Given the description of an element on the screen output the (x, y) to click on. 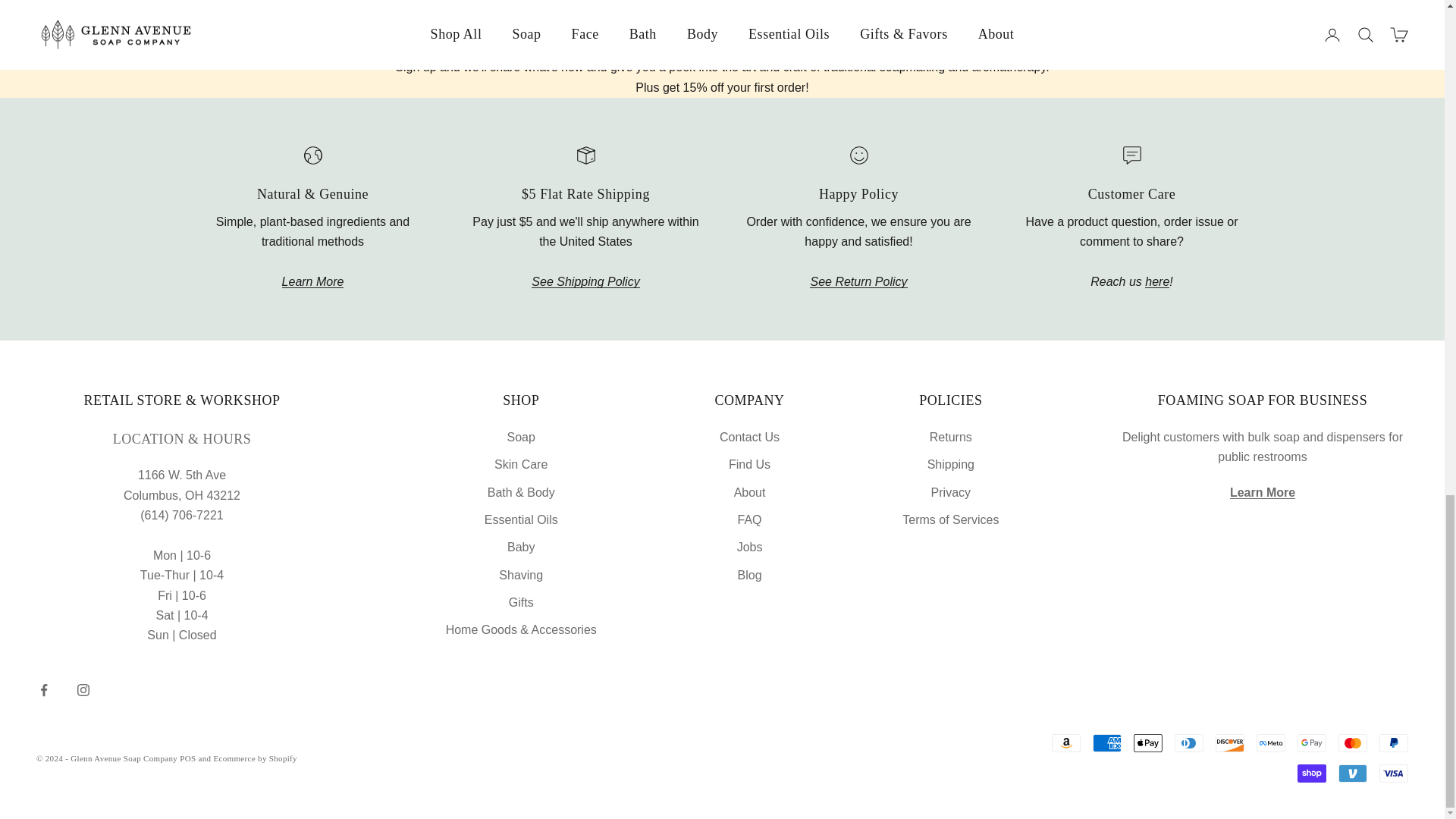
Contact Us (1156, 281)
About Us (312, 281)
Commercial (1262, 492)
Shipping Policy (585, 281)
Refund Policy (858, 281)
